Given the description of an element on the screen output the (x, y) to click on. 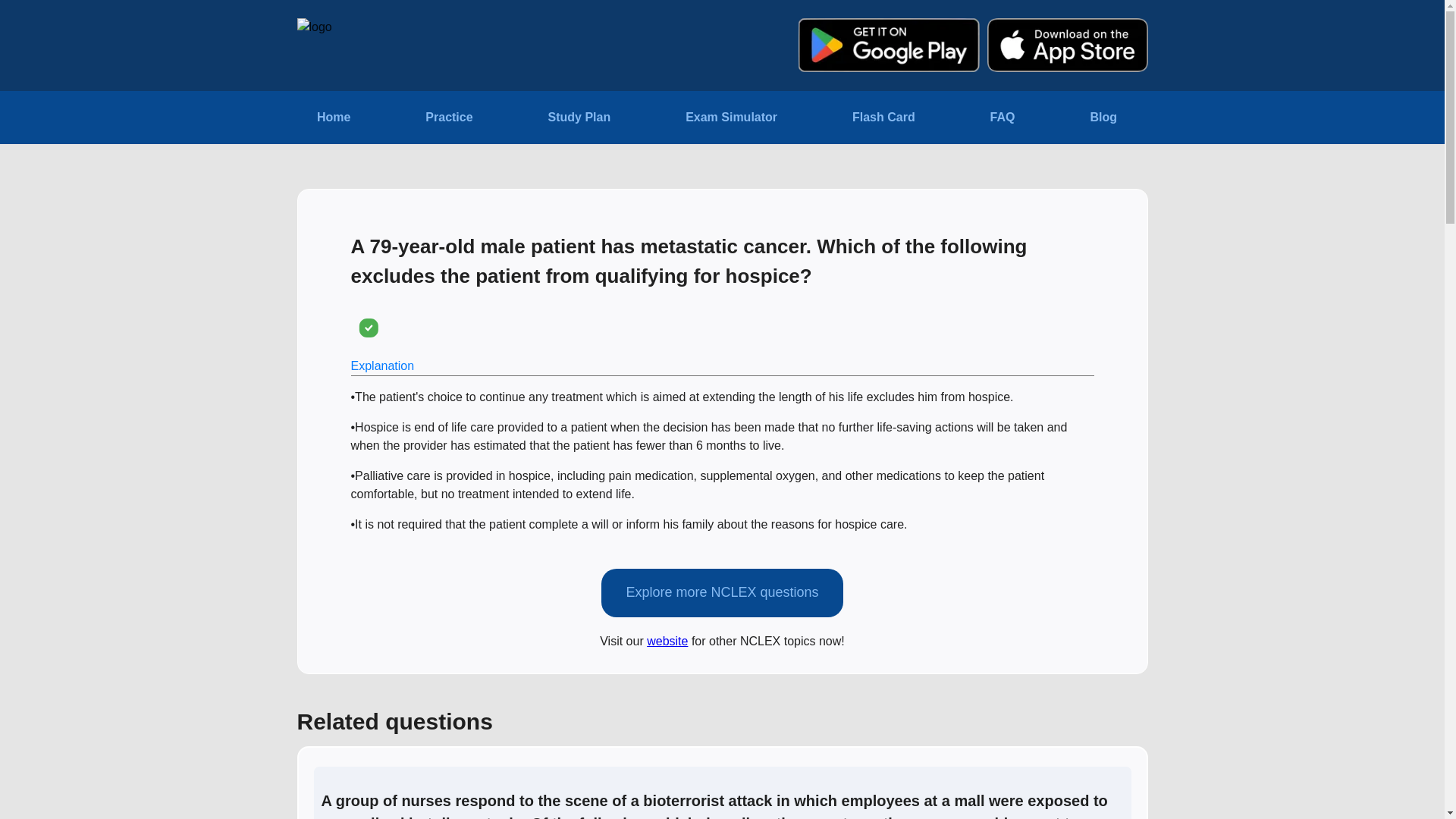
Flash Card (883, 117)
Explore more NCLEX questions (722, 592)
Study Plan (579, 117)
website (666, 640)
Explore more NCLEX questions (722, 581)
Exam Simulator (731, 117)
FAQ (1002, 117)
Practice (448, 117)
Home (333, 117)
Blog (1102, 117)
